Given the description of an element on the screen output the (x, y) to click on. 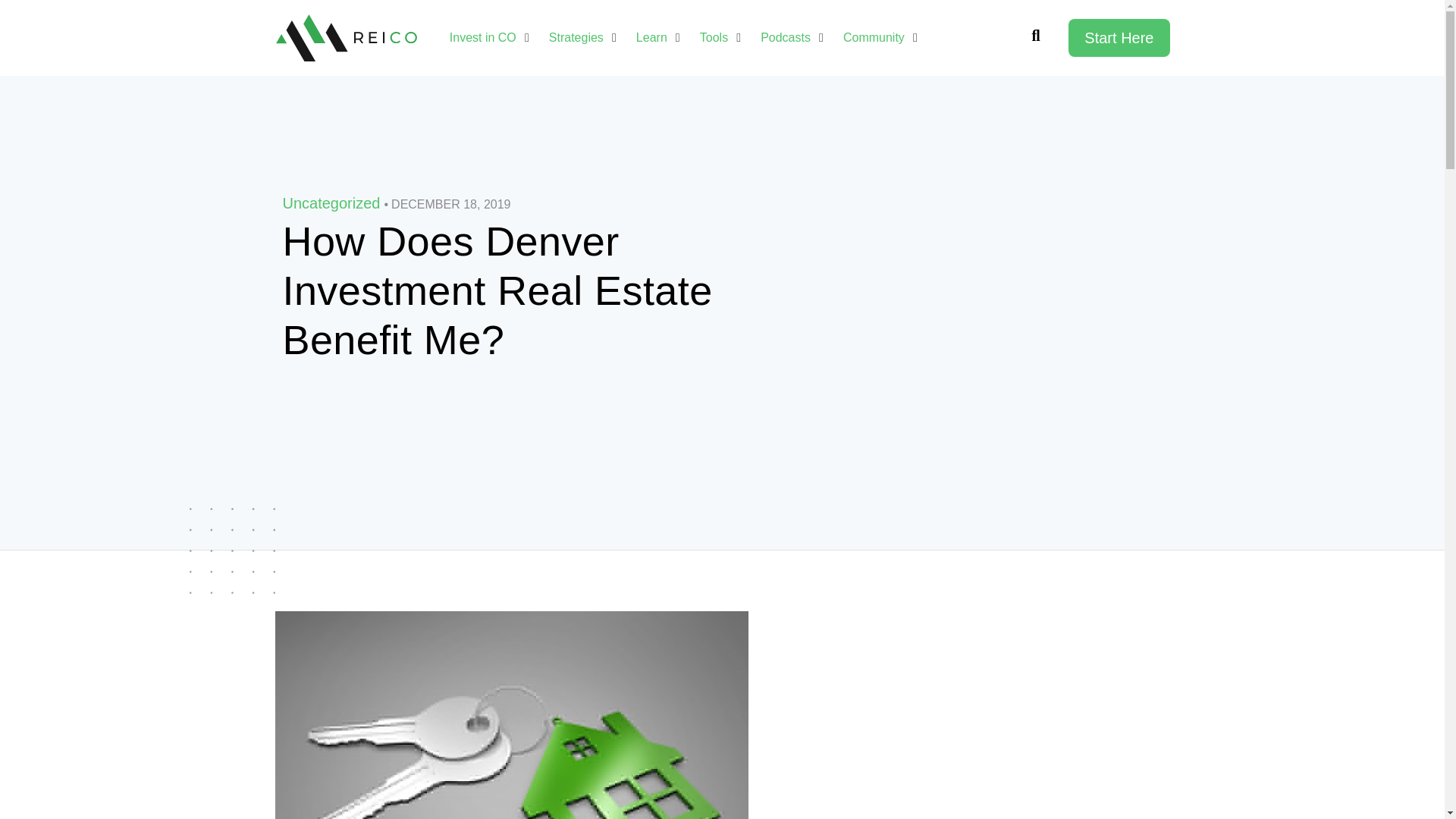
Invest in CO (482, 37)
Strategies (576, 37)
